Given the description of an element on the screen output the (x, y) to click on. 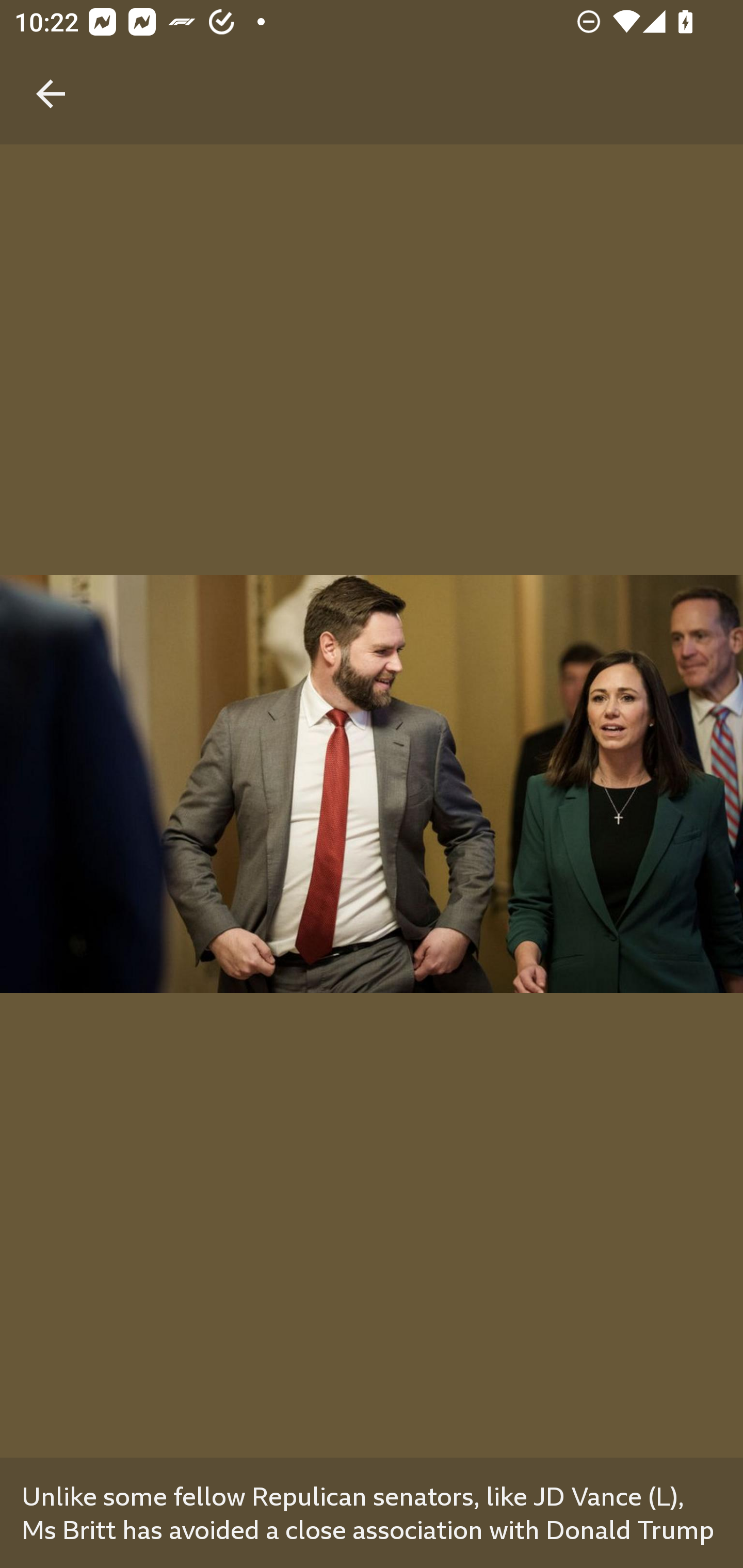
Back (50, 72)
